Given the description of an element on the screen output the (x, y) to click on. 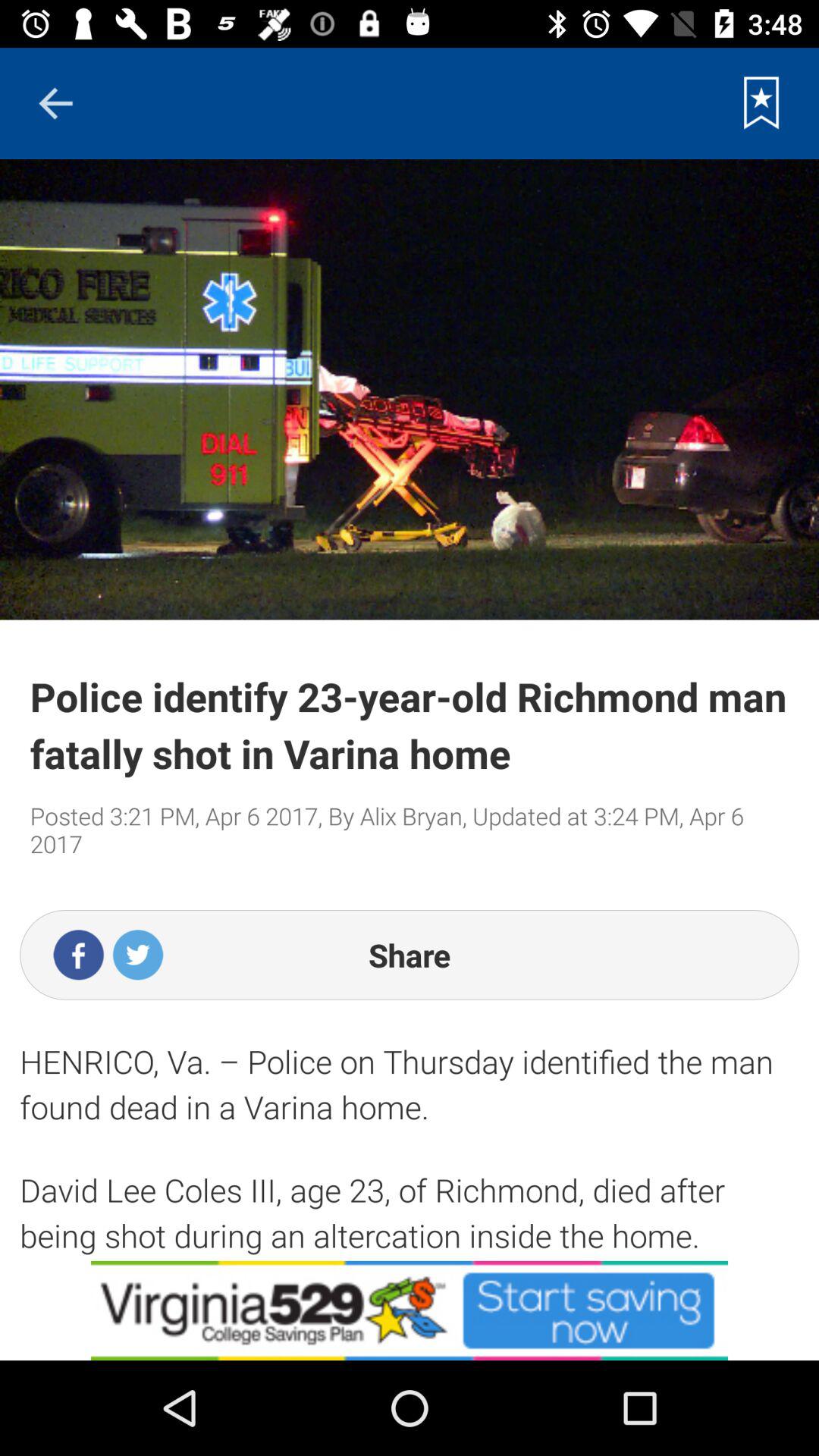
go to previous button (55, 103)
